Given the description of an element on the screen output the (x, y) to click on. 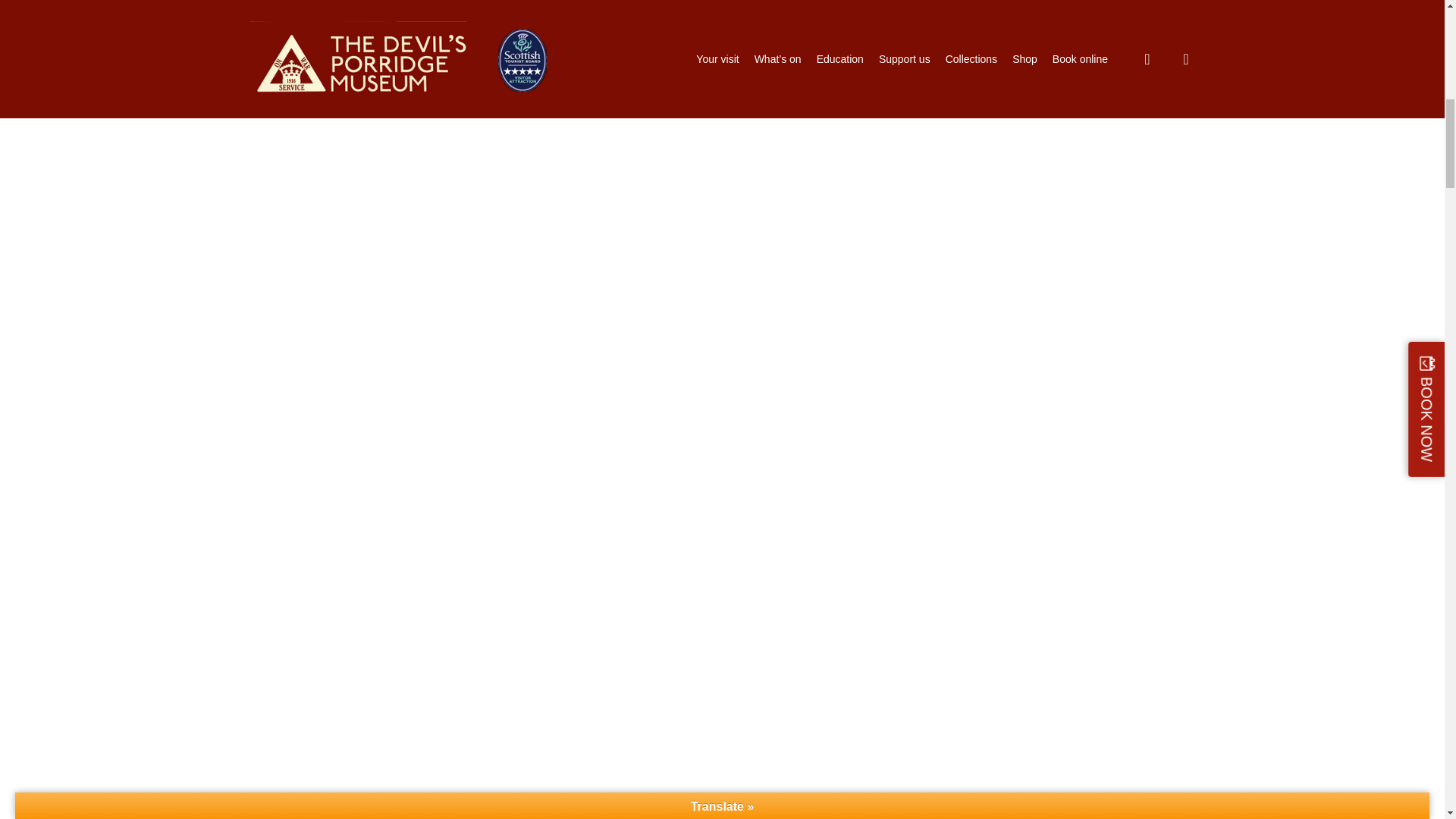
FareHarbor (1342, 64)
